Given the description of an element on the screen output the (x, y) to click on. 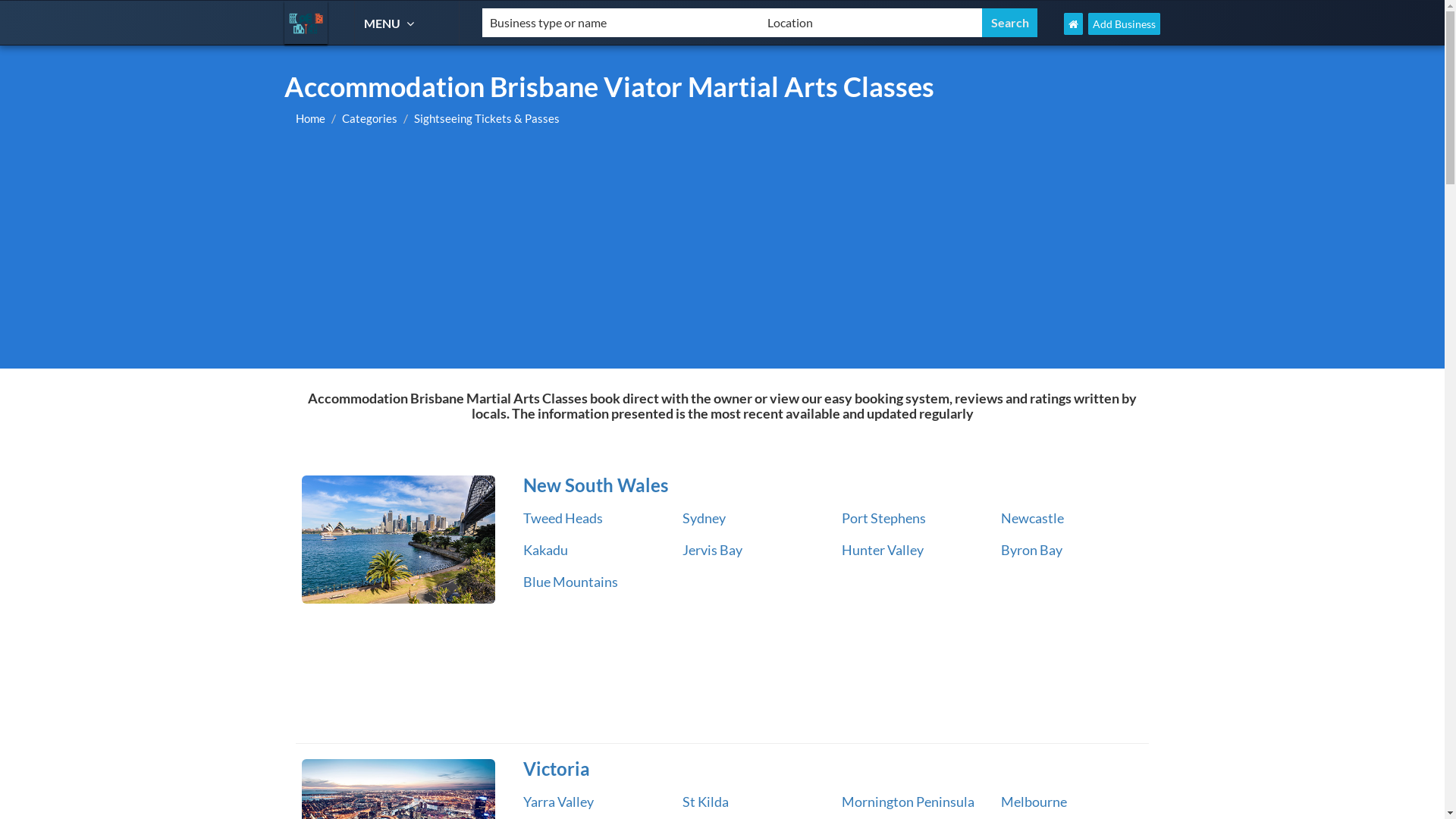
St Kilda Element type: text (705, 801)
Port Stephens Element type: text (883, 517)
New South Wales Element type: hover (398, 539)
Newcastle Element type: text (1032, 517)
Yarra Valley Element type: text (558, 801)
Melbourne Element type: text (1033, 801)
Kakadu Element type: text (545, 549)
New South Wales Element type: text (830, 485)
Accommodation Brisbane Element type: hover (305, 21)
Accommodation Brisbane Home Page Element type: hover (1072, 23)
Jervis Bay Element type: text (712, 549)
Sightseeing Tickets & Passes Element type: text (486, 118)
Hunter Valley Element type: text (882, 549)
Advertisement Element type: hover (722, 254)
Mornington Peninsula Element type: text (907, 801)
Home Element type: text (310, 118)
Blue Mountains Element type: text (570, 581)
Search Element type: text (1009, 22)
Tweed Heads Element type: text (562, 517)
MENU Element type: text (390, 22)
Sydney Element type: text (703, 517)
Victoria Element type: text (830, 768)
Add Business Element type: text (1124, 23)
Byron Bay Element type: text (1031, 549)
Categories Element type: text (369, 118)
